Given the description of an element on the screen output the (x, y) to click on. 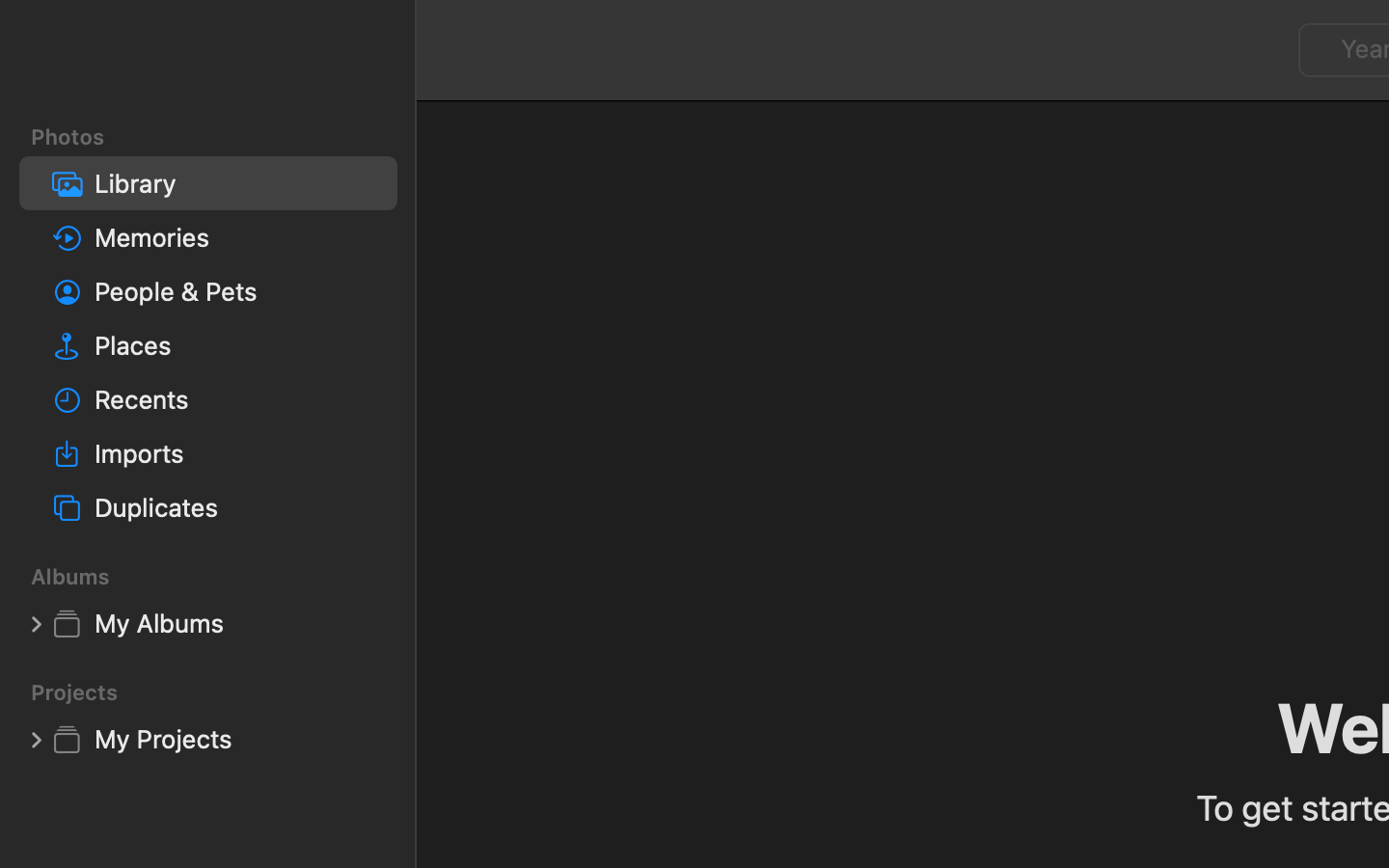
Library Element type: AXStaticText (237, 182)
My Albums Element type: AXStaticText (237, 622)
My Projects Element type: AXStaticText (237, 738)
Duplicates Element type: AXStaticText (237, 506)
Recents Element type: AXStaticText (237, 398)
